Given the description of an element on the screen output the (x, y) to click on. 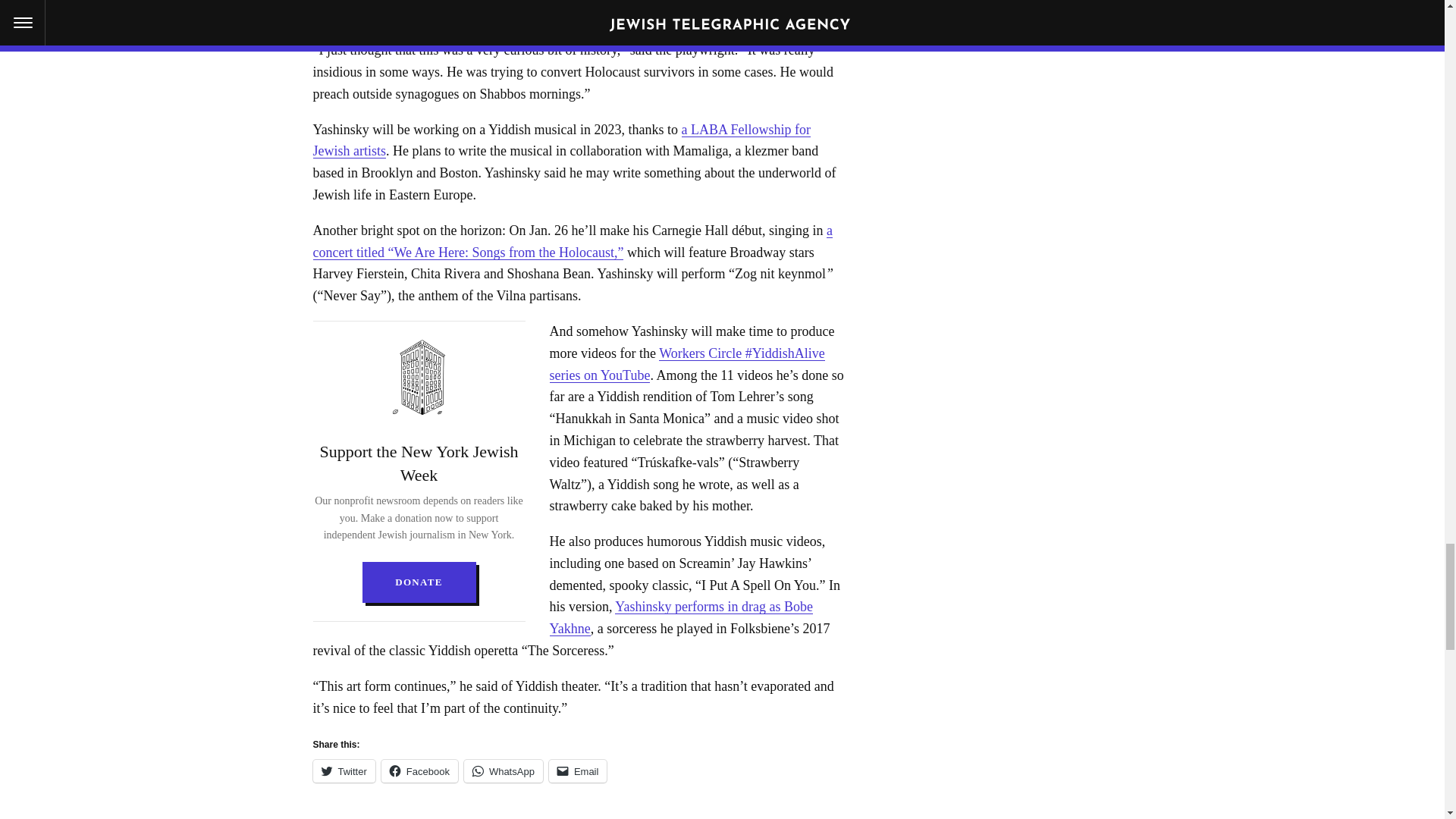
Click to email a link to a friend (577, 771)
Click to share on Facebook (419, 771)
Click to share on Twitter (343, 771)
Click to share on WhatsApp (503, 771)
